Given the description of an element on the screen output the (x, y) to click on. 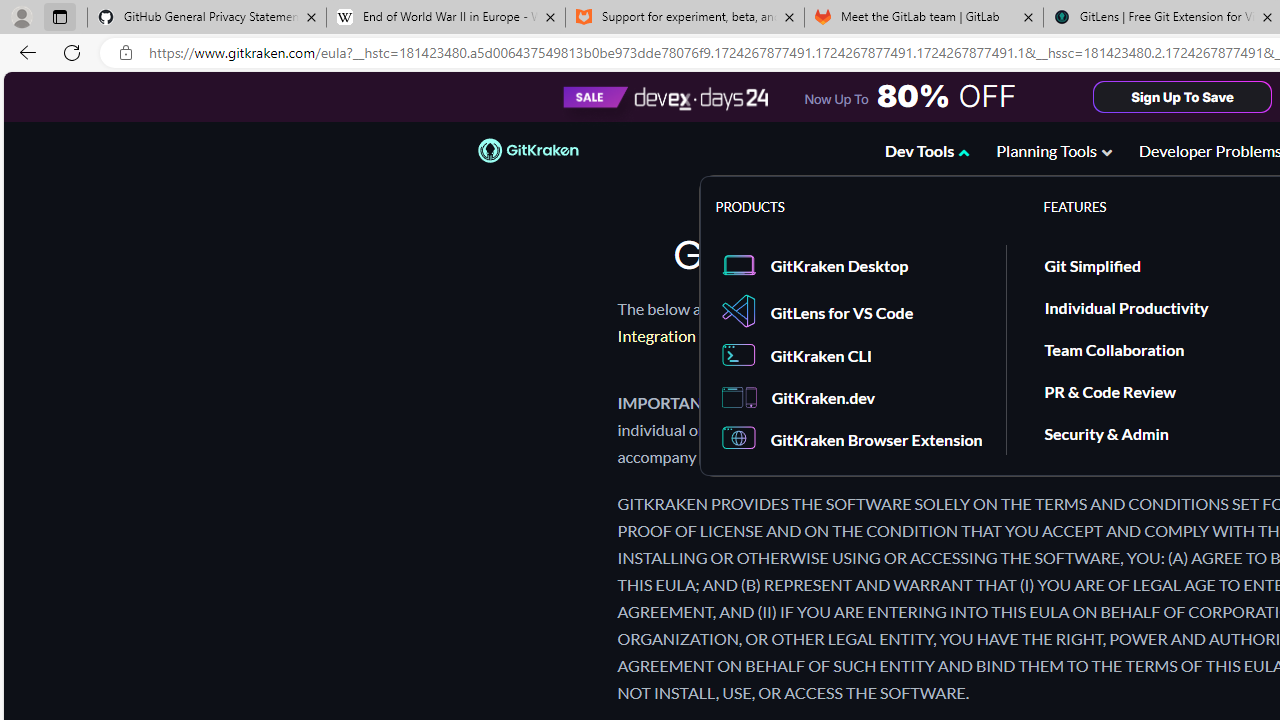
GitHub General Privacy Statement - GitHub Docs (207, 17)
End of World War II in Europe - Wikipedia (445, 17)
Security & Admin (1106, 432)
Individual Productivity (1126, 306)
Meet the GitLab team | GitLab (924, 17)
